Given the description of an element on the screen output the (x, y) to click on. 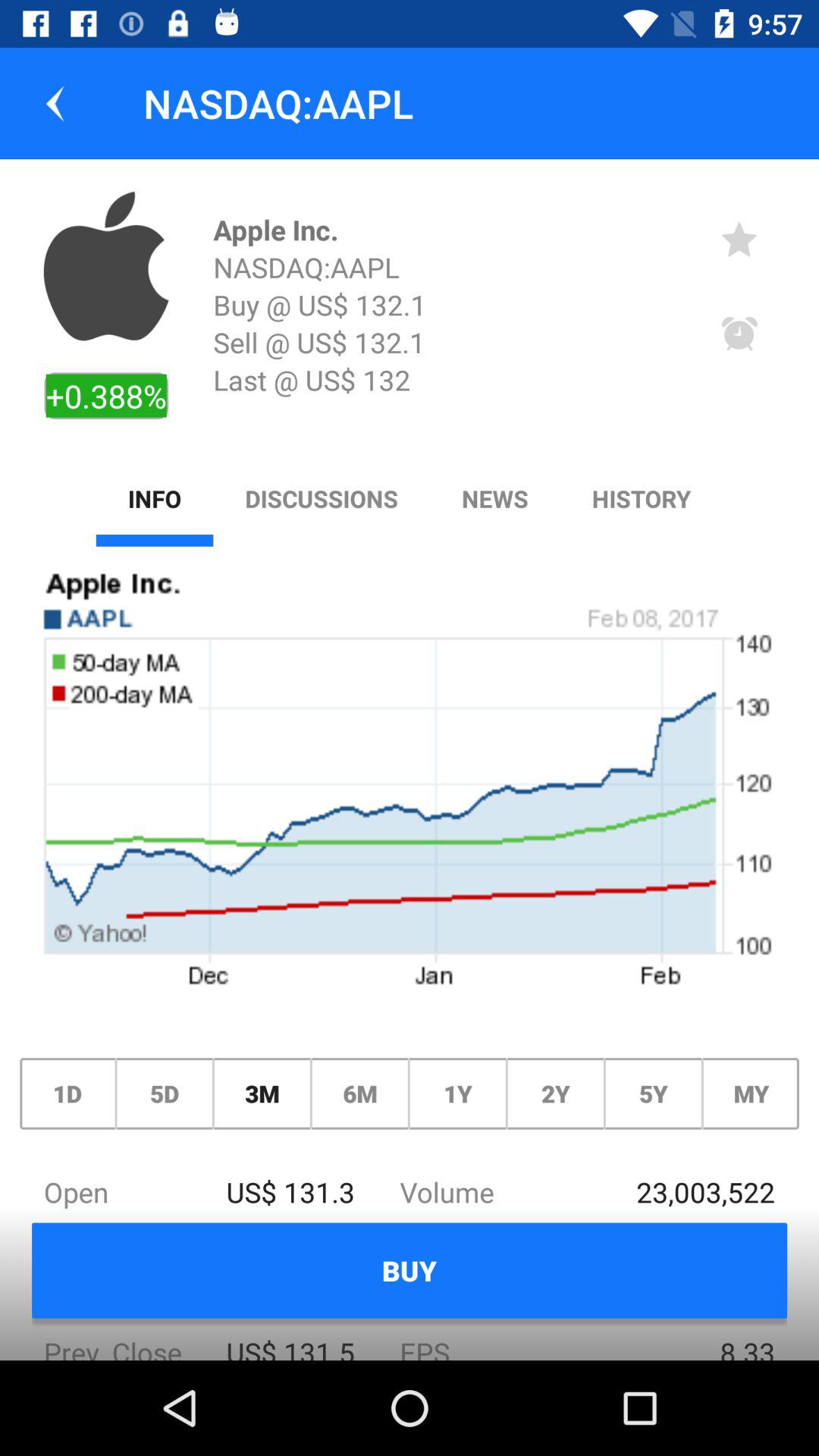
choose icon below the info (409, 786)
